Given the description of an element on the screen output the (x, y) to click on. 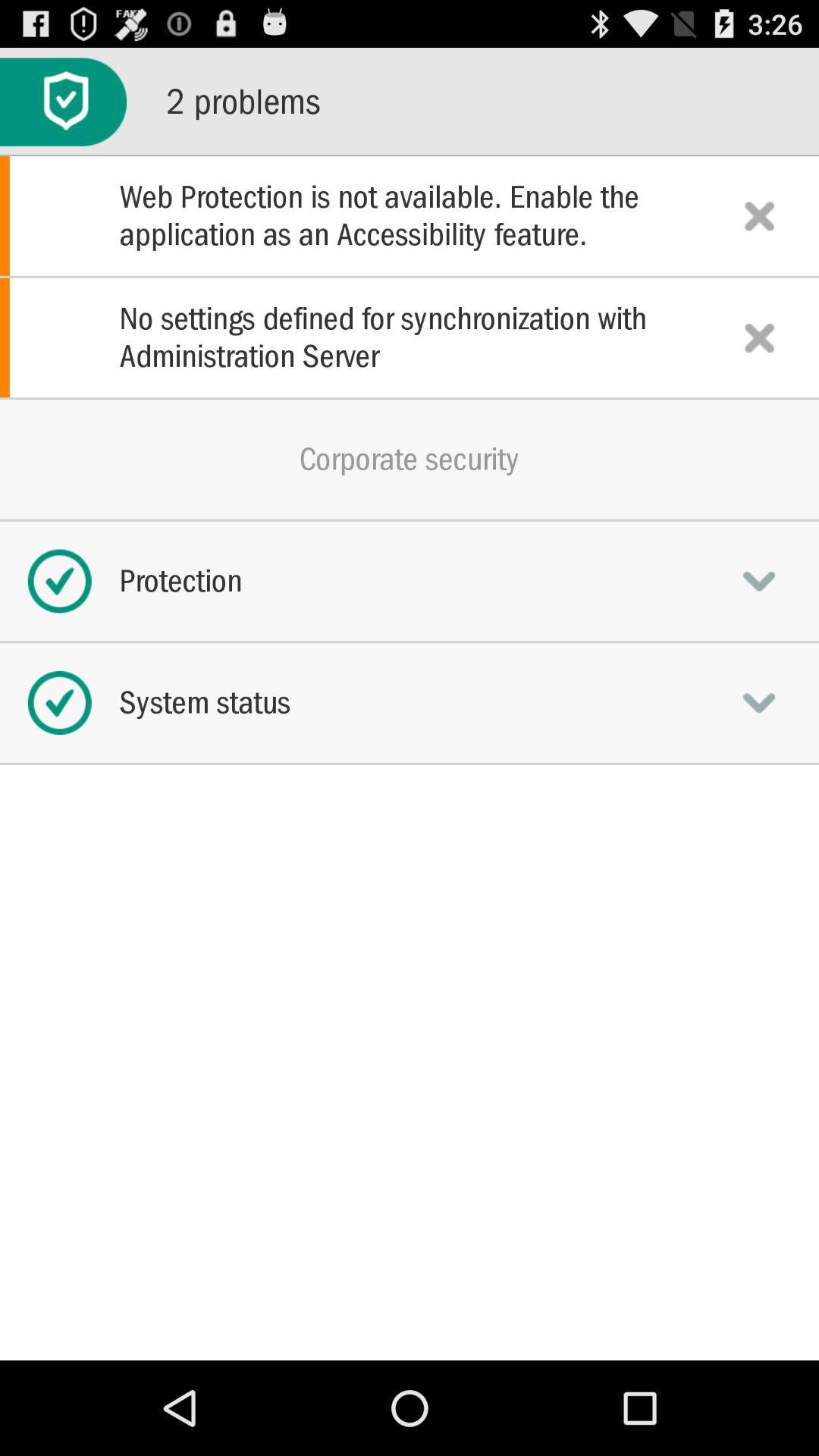
delete problem line (759, 337)
